Given the description of an element on the screen output the (x, y) to click on. 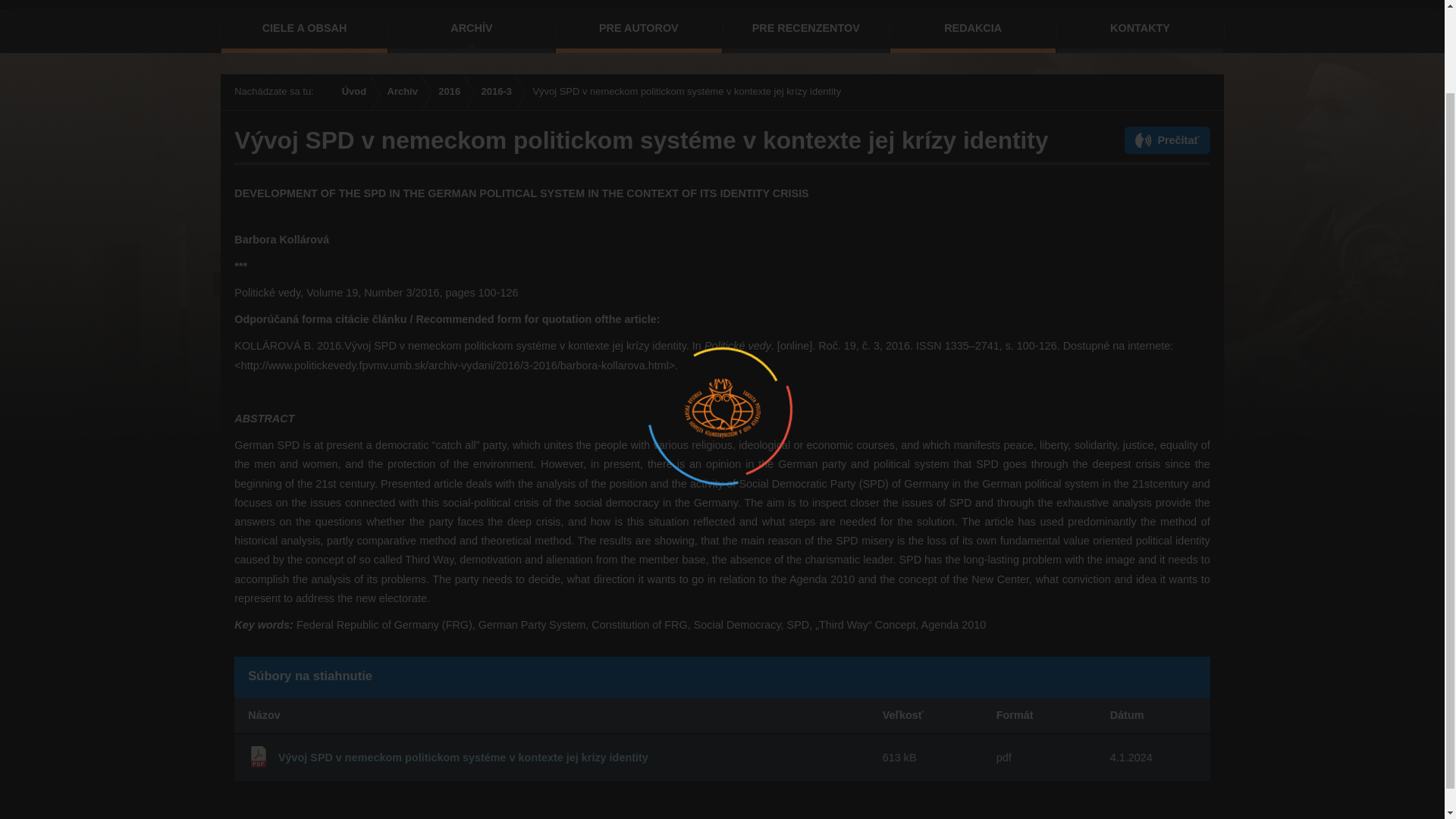
CIELE A OBSAH (304, 31)
